Given the description of an element on the screen output the (x, y) to click on. 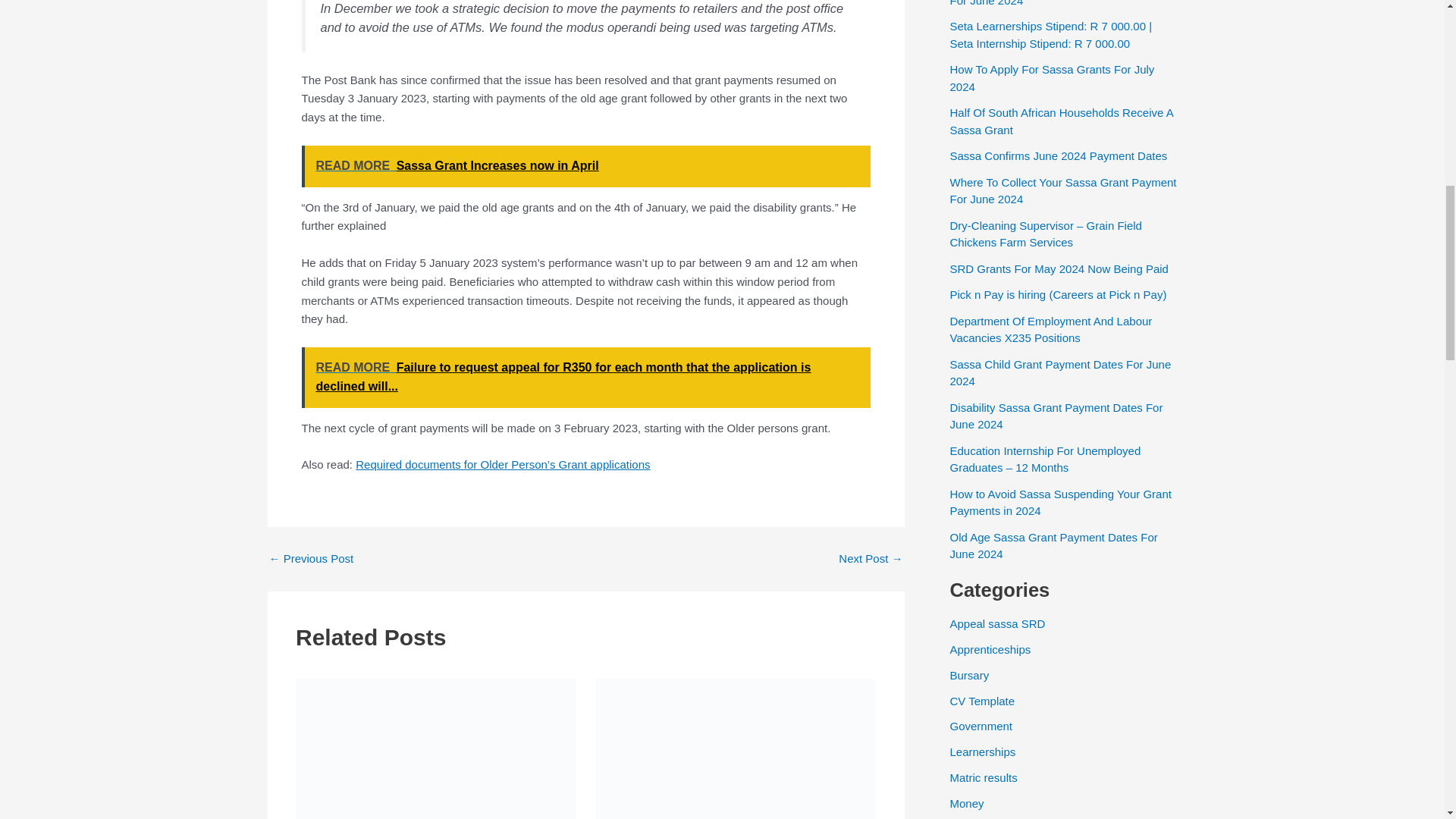
Unisa Registration Now Open for 2023 (310, 558)
READ MORE  Sassa Grant Increases now in April (585, 166)
